Given the description of an element on the screen output the (x, y) to click on. 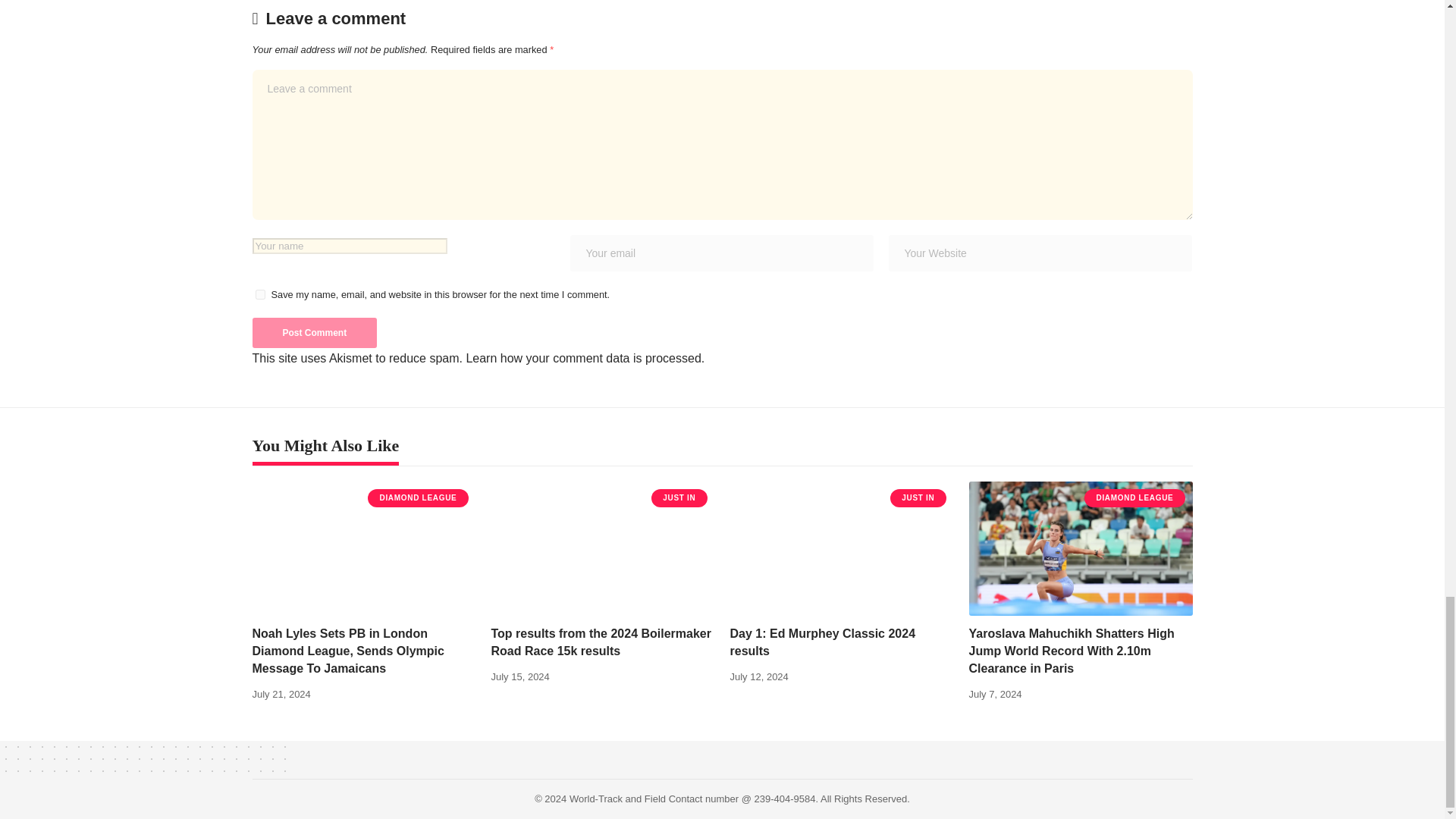
Post Comment (314, 332)
Top results from the 2024 Boilermaker Road Race 15k results (603, 548)
Day 1: Ed Murphey Classic 2024 results (841, 548)
yes (259, 294)
